Given the description of an element on the screen output the (x, y) to click on. 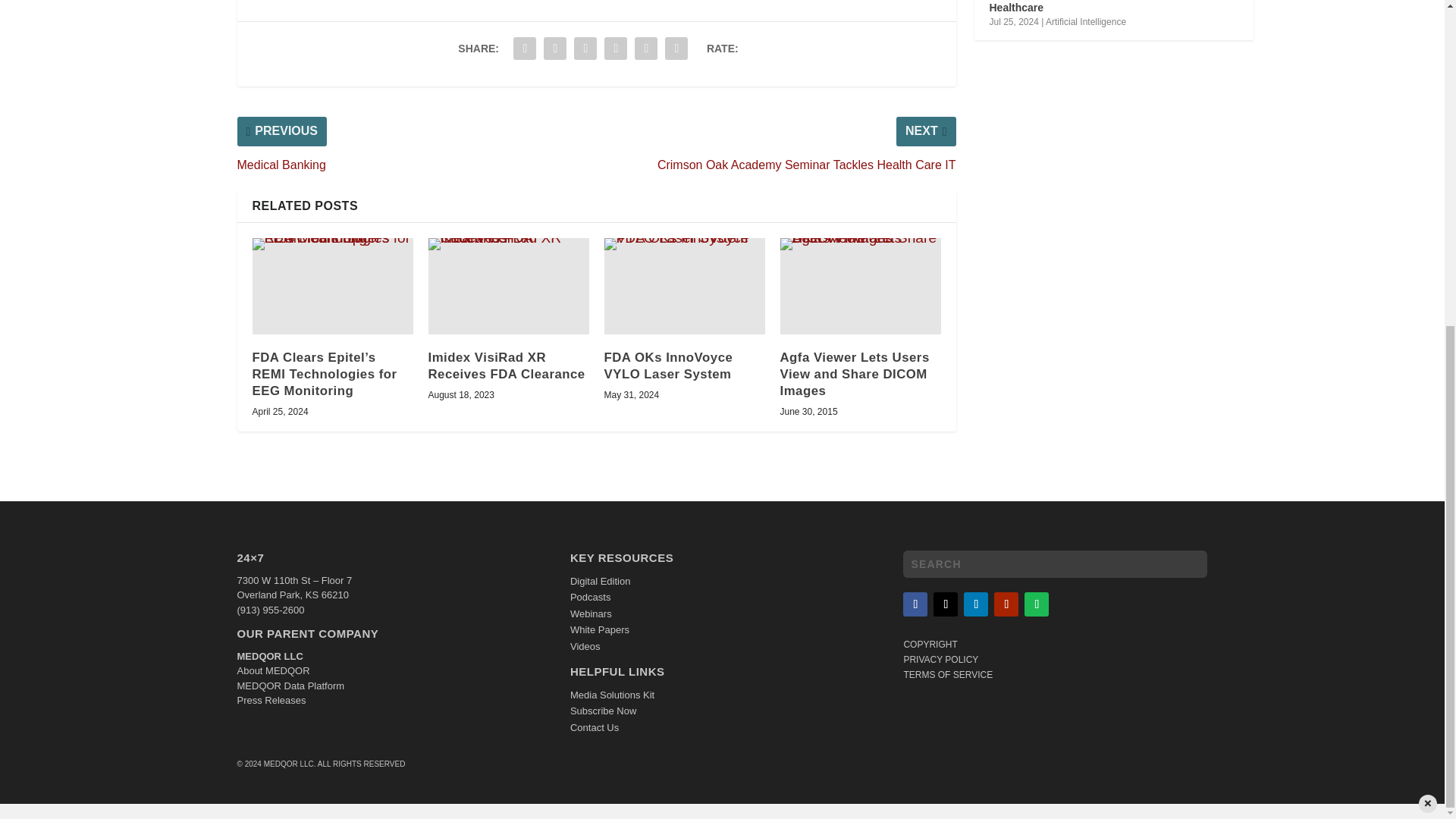
Follow on Spotify (1036, 604)
Follow on Youtube (1005, 604)
Follow on X (945, 604)
Imidex VisiRad XR Receives FDA Clearance (508, 286)
FDA OKs InnoVoyce VYLO Laser System (684, 286)
Agfa Viewer Lets Users View and Share DICOM Images (859, 286)
Follow on LinkedIn (975, 604)
Follow on Facebook (914, 604)
